Given the description of an element on the screen output the (x, y) to click on. 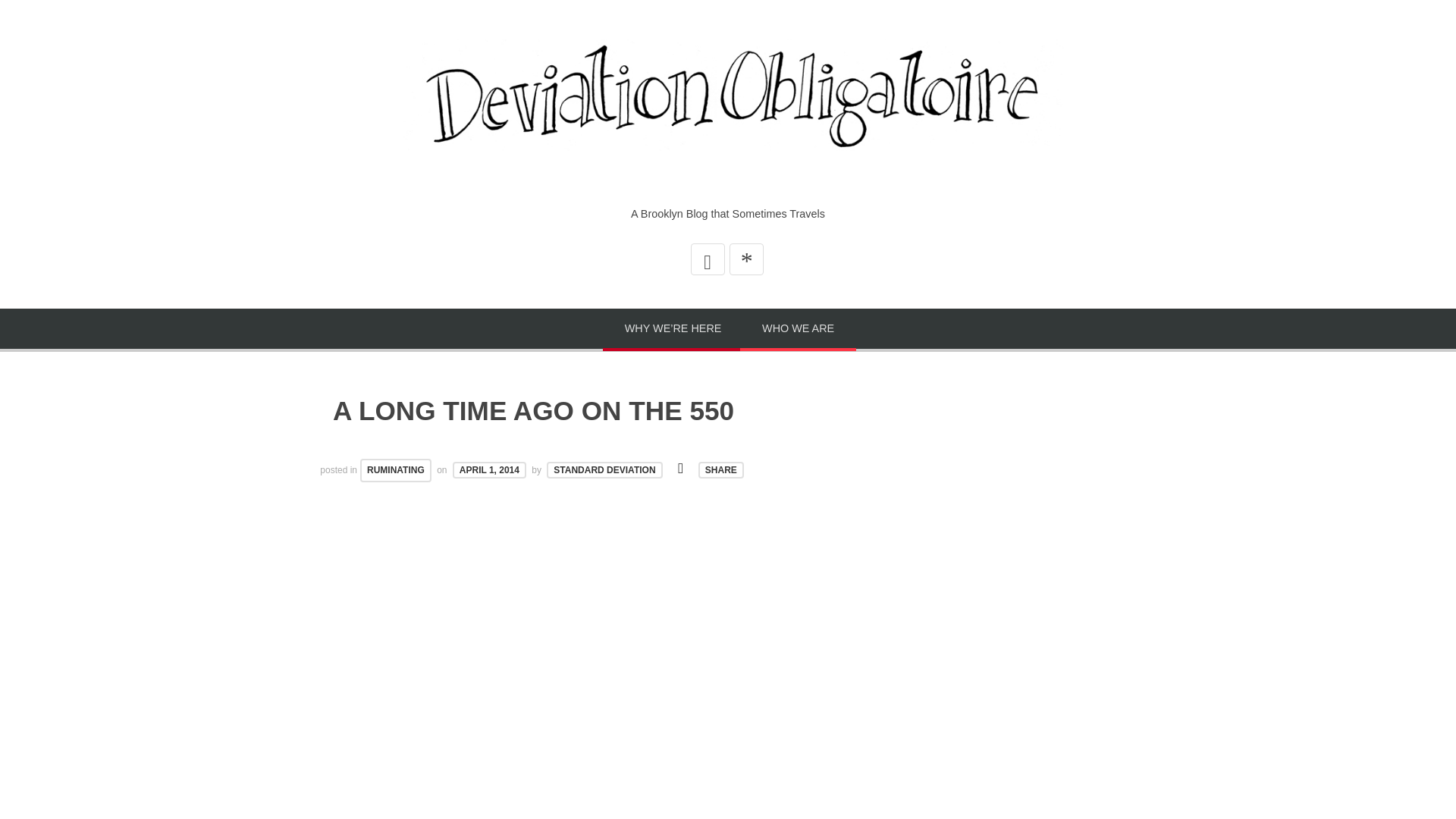
SHARE (721, 469)
APRIL 1, 2014 (488, 469)
11:14 am (488, 469)
View all posts by Standard Deviation (604, 469)
WHO WE ARE (797, 329)
STANDARD DEVIATION (604, 469)
RUMINATING (394, 470)
